Given the description of an element on the screen output the (x, y) to click on. 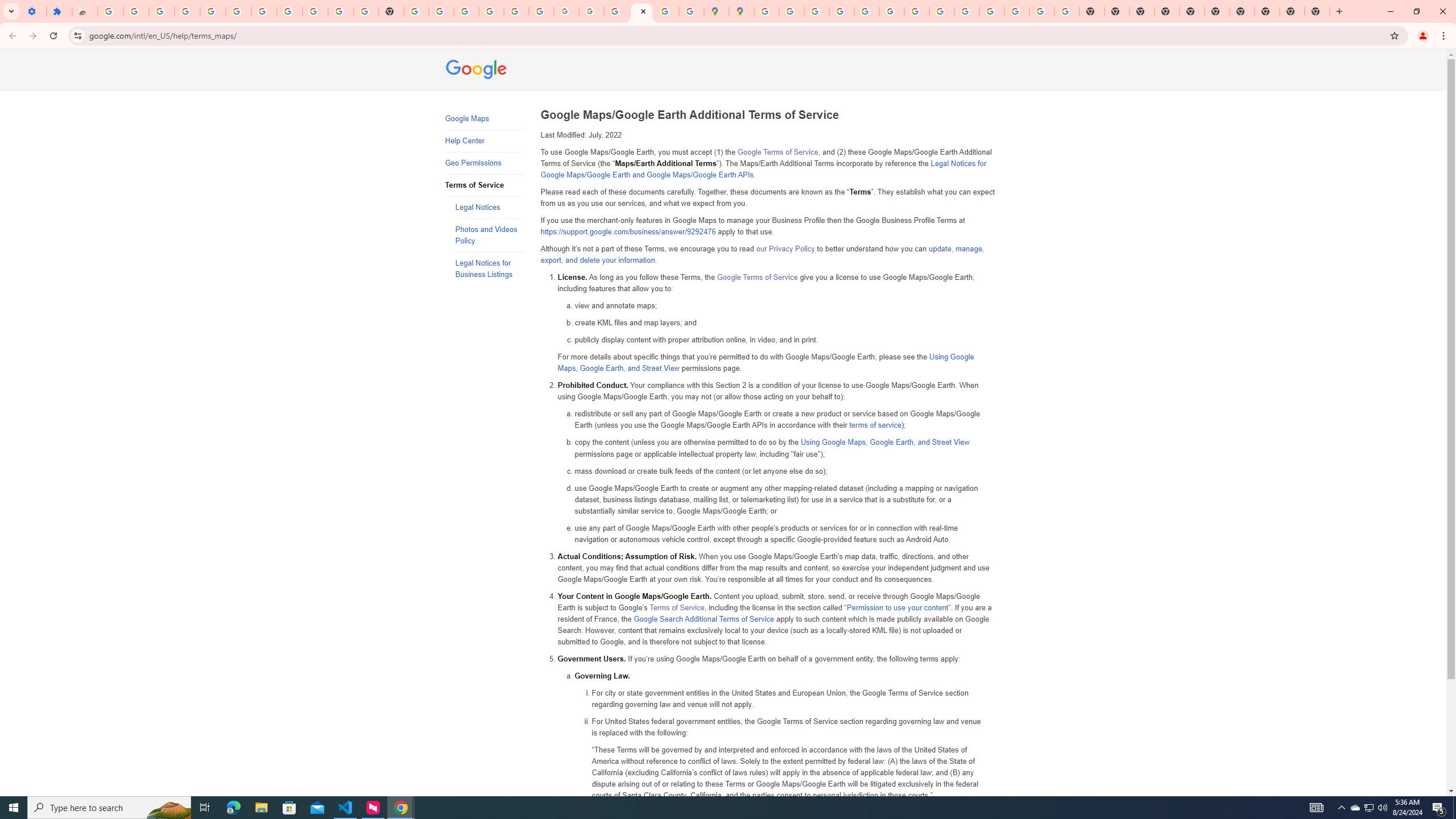
Terms of Service (676, 606)
Google Terms of Service (756, 276)
Sign in - Google Accounts (766, 11)
Help Center (484, 140)
Forward (32, 35)
Learn how to find your photos - Google Photos Help (213, 11)
Search tabs (10, 11)
our Privacy Policy (785, 248)
